Given the description of an element on the screen output the (x, y) to click on. 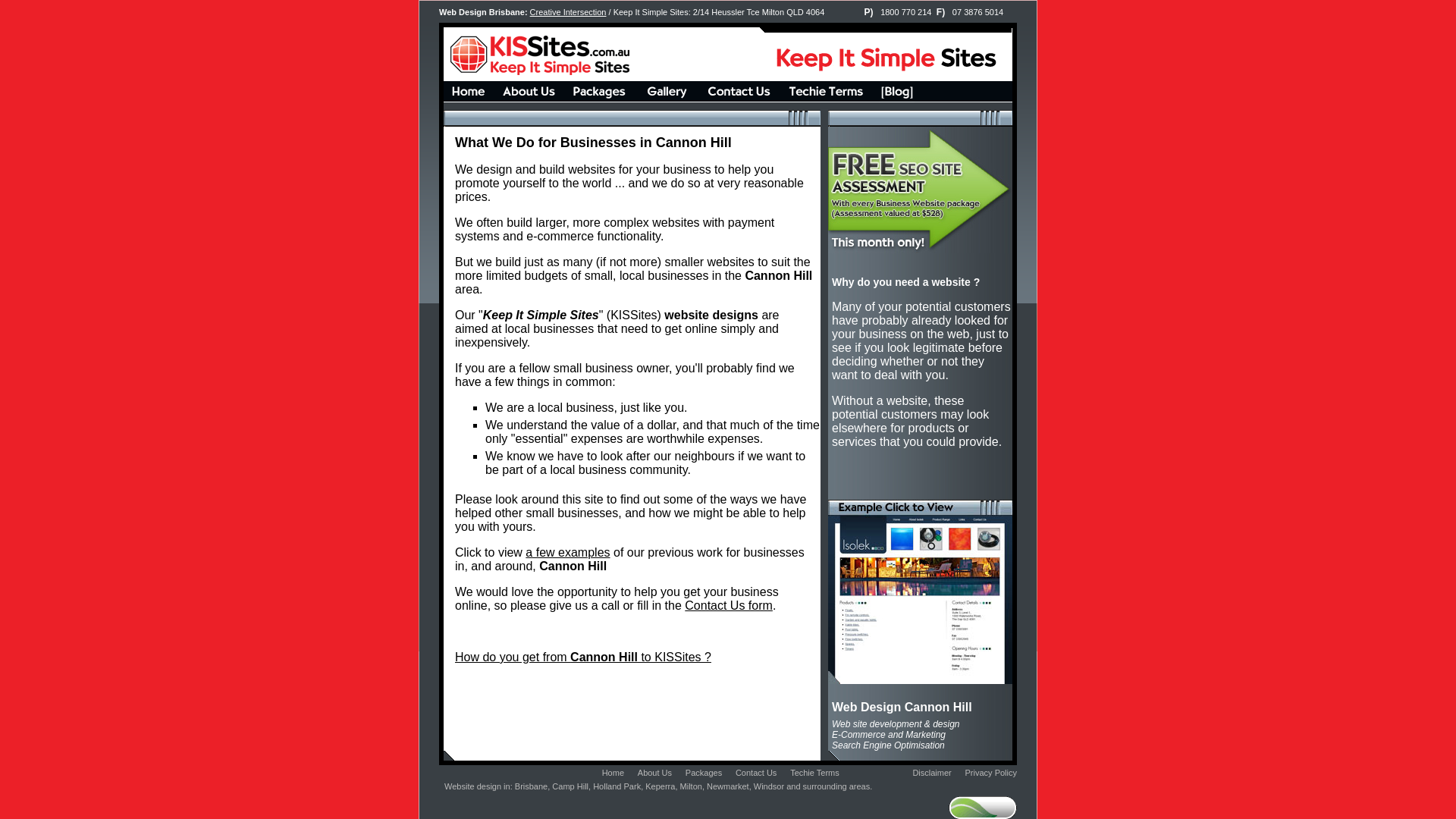
Our Website Packages Element type: hover (599, 97)
Holland Park Element type: text (616, 785)
Creative Intersection Element type: text (568, 11)
Newmarket Element type: text (727, 785)
Brisbane Element type: text (530, 785)
Privacy Policy Element type: text (990, 772)
About Us Element type: text (654, 772)
Webdesign by KISSites Element type: hover (468, 97)
Free SEO Assessment Element type: hover (920, 312)
Techie Terms Element type: text (814, 772)
Website Techie Terms Element type: hover (824, 97)
Home Element type: text (613, 772)
Packages Element type: text (703, 772)
Carbon Neutral Hosting by GreenServe.com.au Element type: hover (991, 804)
Contact us about website design Element type: hover (739, 97)
Website design for local business Isolek Qld Element type: hover (920, 679)
Milton Element type: text (691, 785)
Website Galleries we offer Element type: hover (667, 97)
Contact Us form Element type: text (728, 605)
a few examples Element type: text (567, 552)
Keperra Element type: text (659, 785)
About KISSites Website Design Element type: hover (528, 97)
Our 'Website Tips for Small Business Website Owners' Blog Element type: hover (896, 97)
Camp Hill Element type: text (570, 785)
Windsor Element type: text (768, 785)
How do you get from Cannon Hill to KISSites ? Element type: text (583, 656)
Disclaimer Element type: text (931, 772)
Contact Us Element type: text (755, 772)
